Given the description of an element on the screen output the (x, y) to click on. 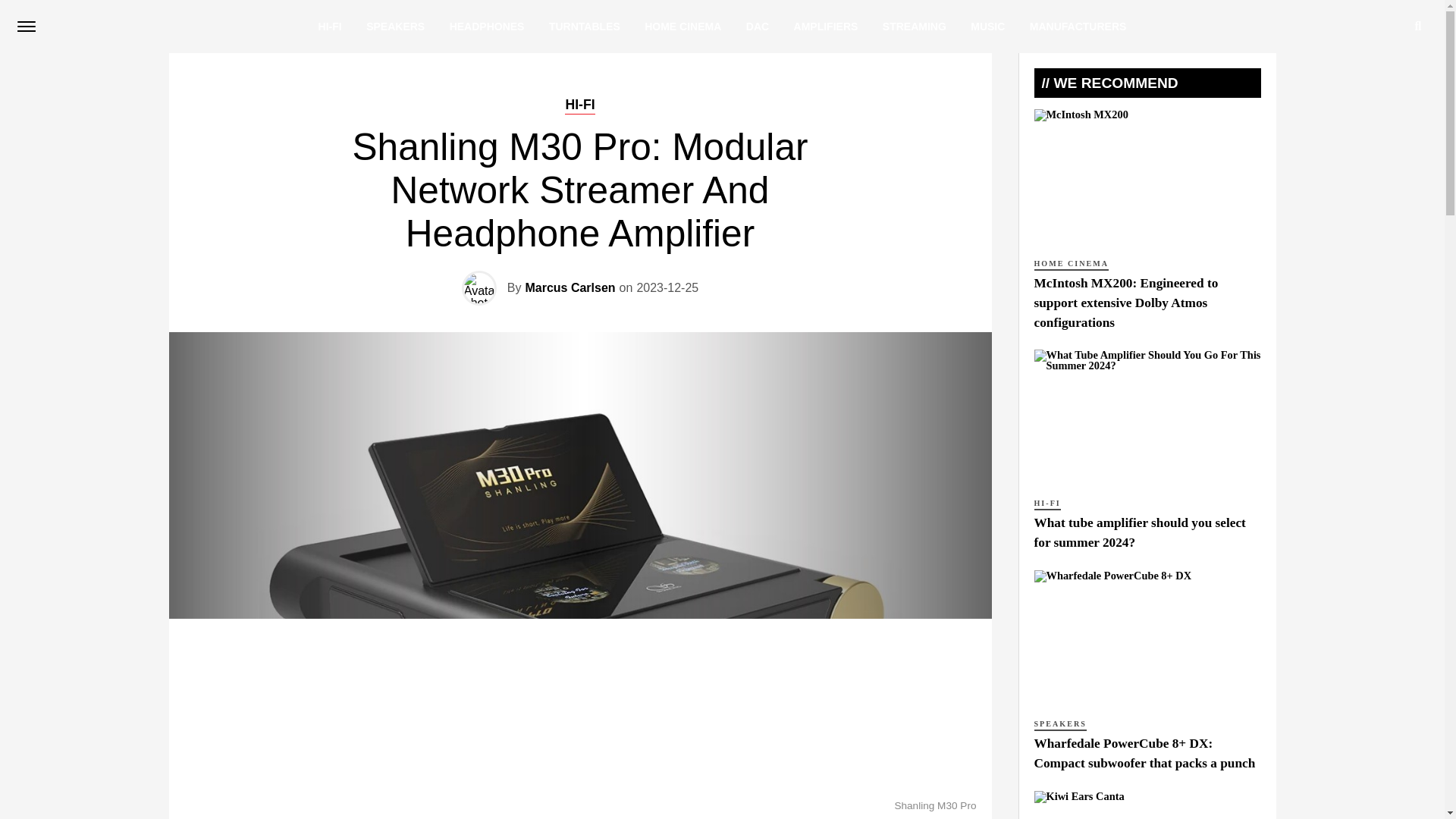
SPEAKERS (395, 26)
STREAMING (914, 26)
HEADPHONES (487, 26)
AMPLIFIERS (826, 26)
MUSIC (986, 26)
MANUFACTURERS (1078, 26)
HOME CINEMA (682, 26)
by Marcus Carlsen (569, 287)
TURNTABLES (584, 26)
